Given the description of an element on the screen output the (x, y) to click on. 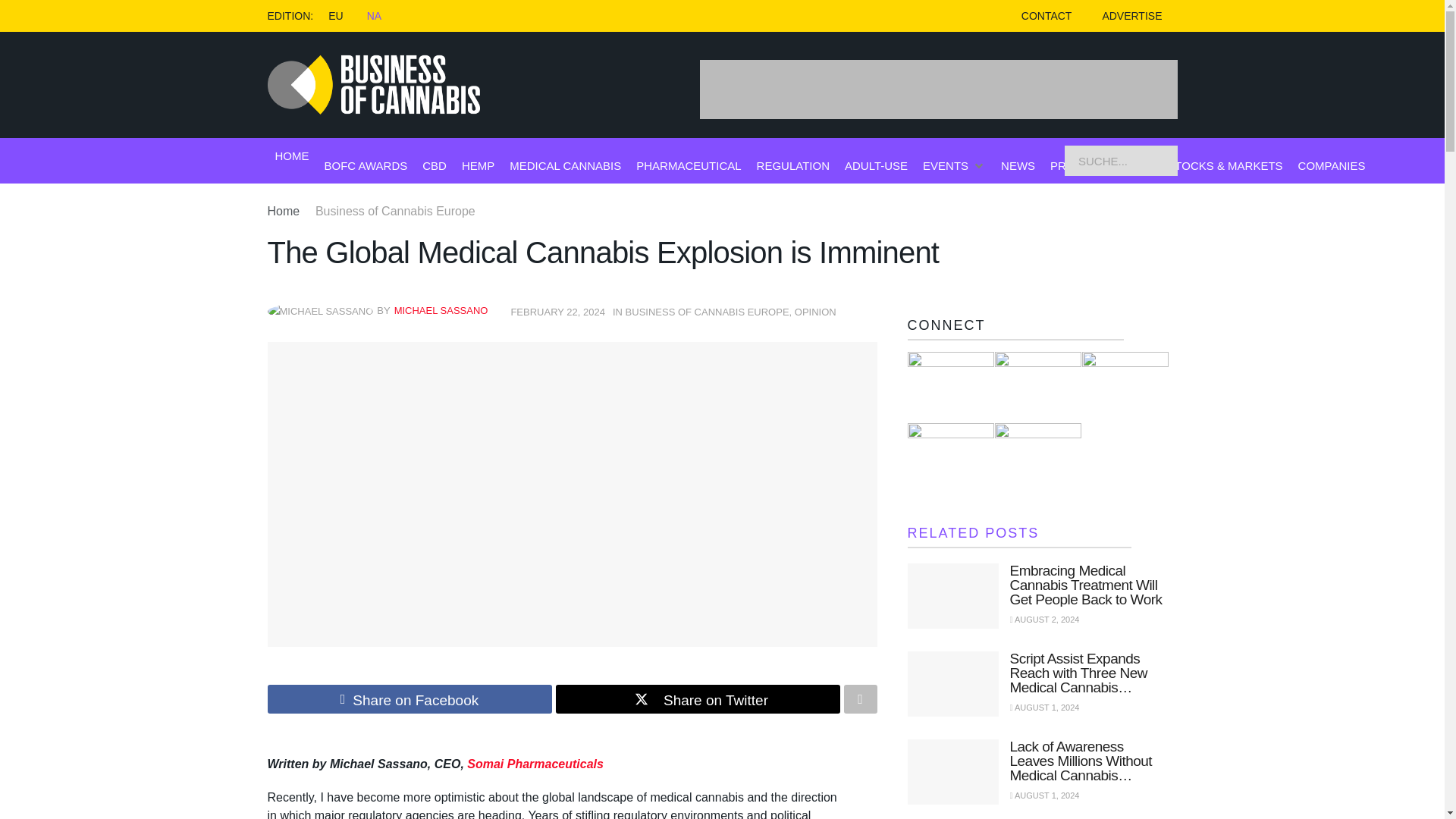
PRESS RELEASES (1100, 165)
PHARMACEUTICAL (688, 165)
COMPANIES (1331, 165)
HEMP (478, 165)
OPINION (814, 311)
REGULATION (793, 165)
HOME (291, 156)
EVENTS (945, 165)
Home (282, 210)
CBD (434, 165)
